Given the description of an element on the screen output the (x, y) to click on. 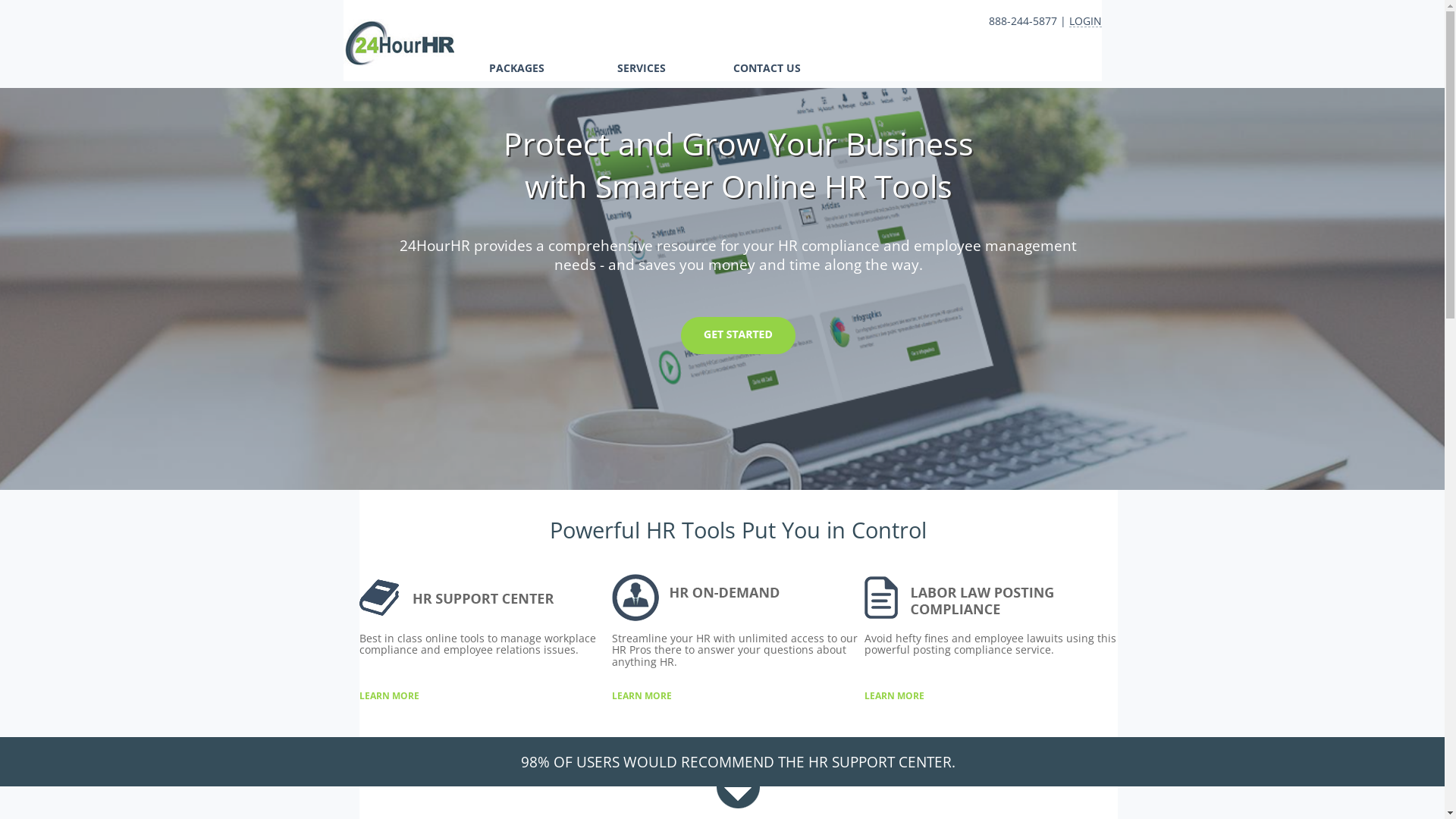
SERVICES Element type: text (641, 67)
CONTACT US Element type: text (765, 67)
PACKAGES Element type: text (515, 67)
LOGIN Element type: text (1085, 20)
LEARN MORE Element type: text (389, 695)
24HourHR - Online HR Resource Element type: hover (397, 61)
888-244-5877 Element type: text (1022, 20)
LEARN MORE Element type: text (894, 695)
LEARN MORE Element type: text (641, 695)
24HourHR Element type: hover (397, 41)
